Given the description of an element on the screen output the (x, y) to click on. 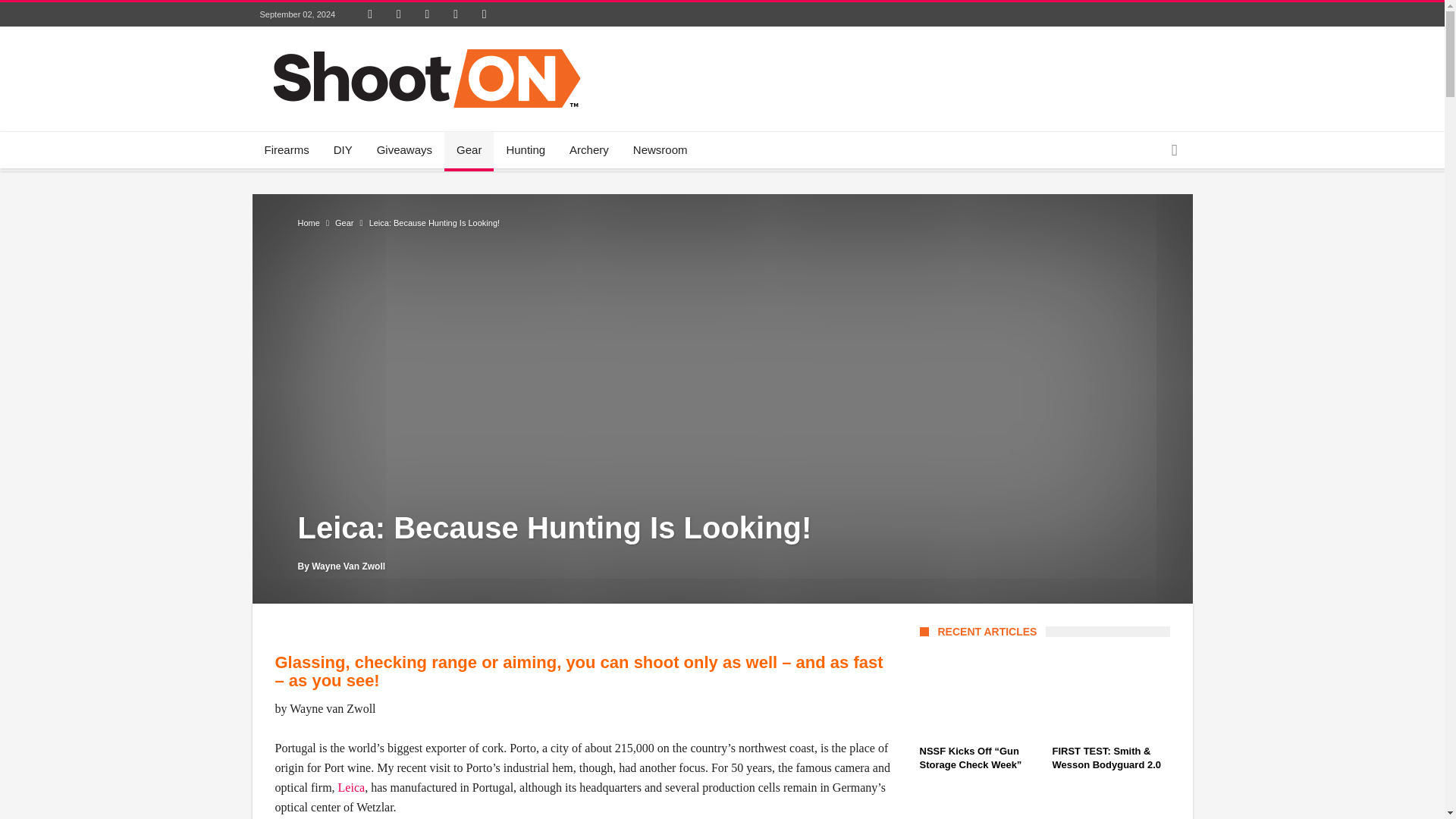
Leica (351, 787)
Pinterest (426, 14)
Youtube (455, 14)
Gear (468, 149)
Archery (589, 149)
Home (307, 222)
Newsroom (660, 149)
DIY (343, 149)
Twitter (398, 14)
instagram (483, 14)
